Given the description of an element on the screen output the (x, y) to click on. 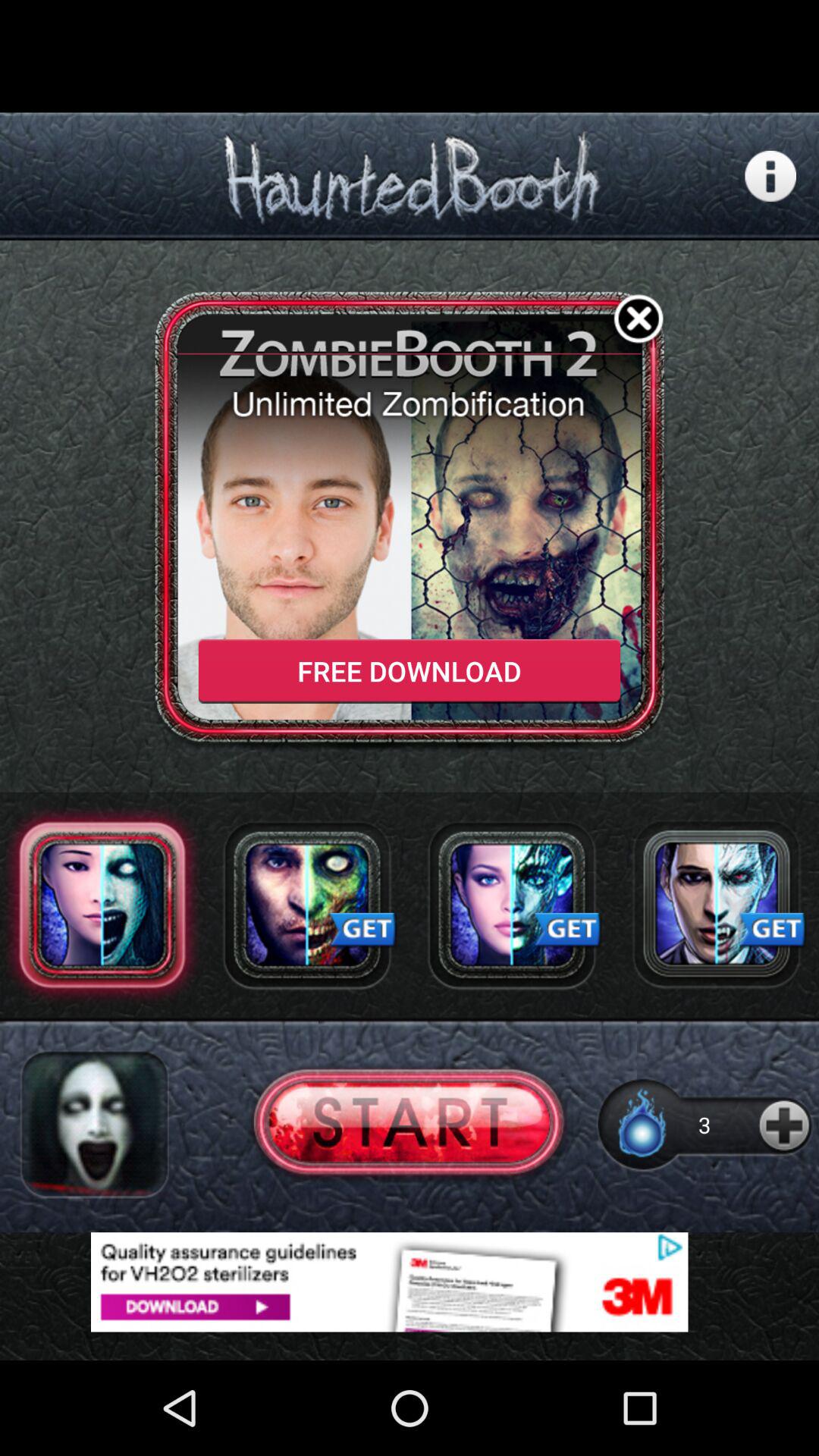
start button (409, 1124)
